Given the description of an element on the screen output the (x, y) to click on. 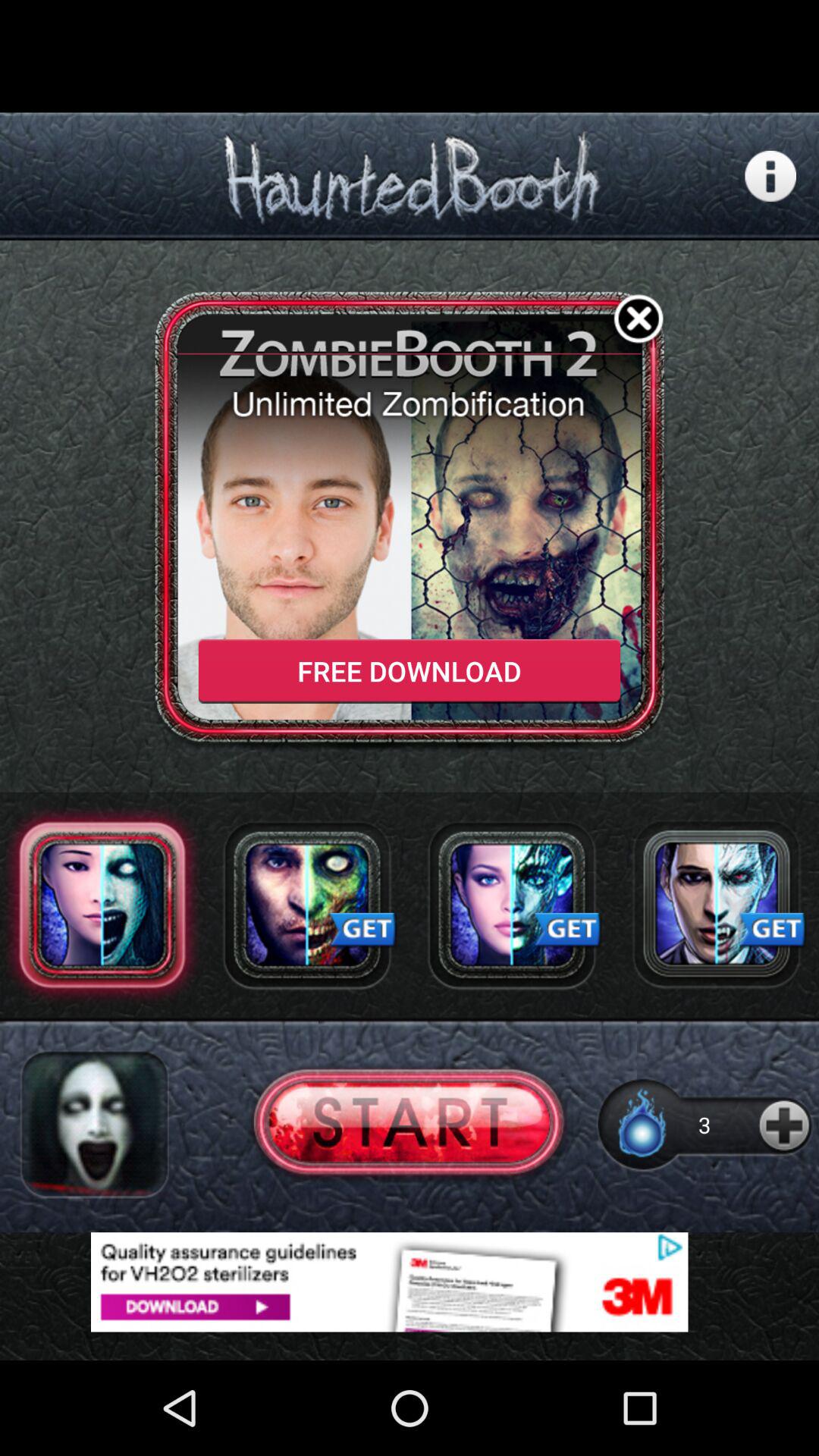
start button (409, 1124)
